Given the description of an element on the screen output the (x, y) to click on. 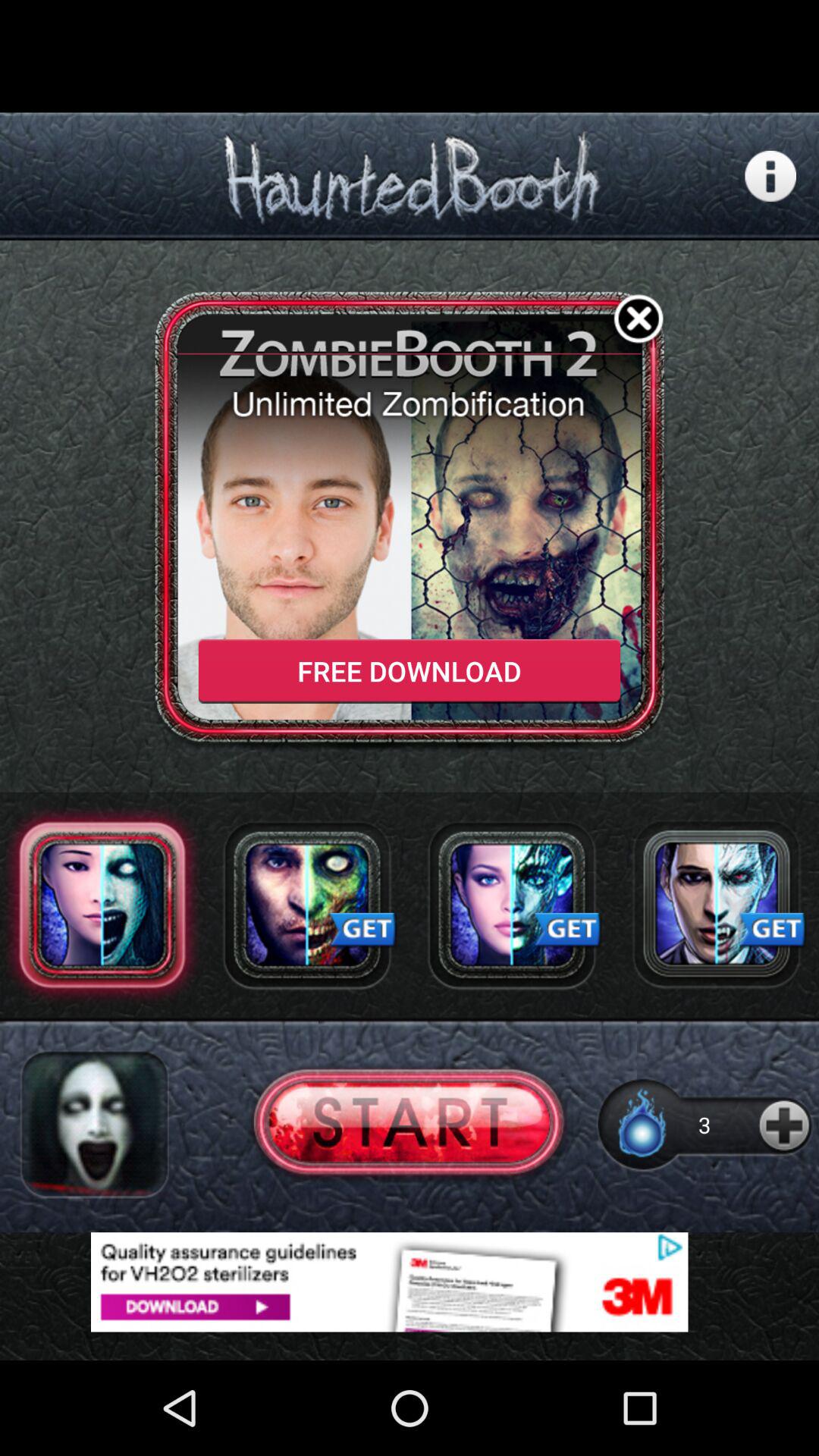
start button (409, 1124)
